Given the description of an element on the screen output the (x, y) to click on. 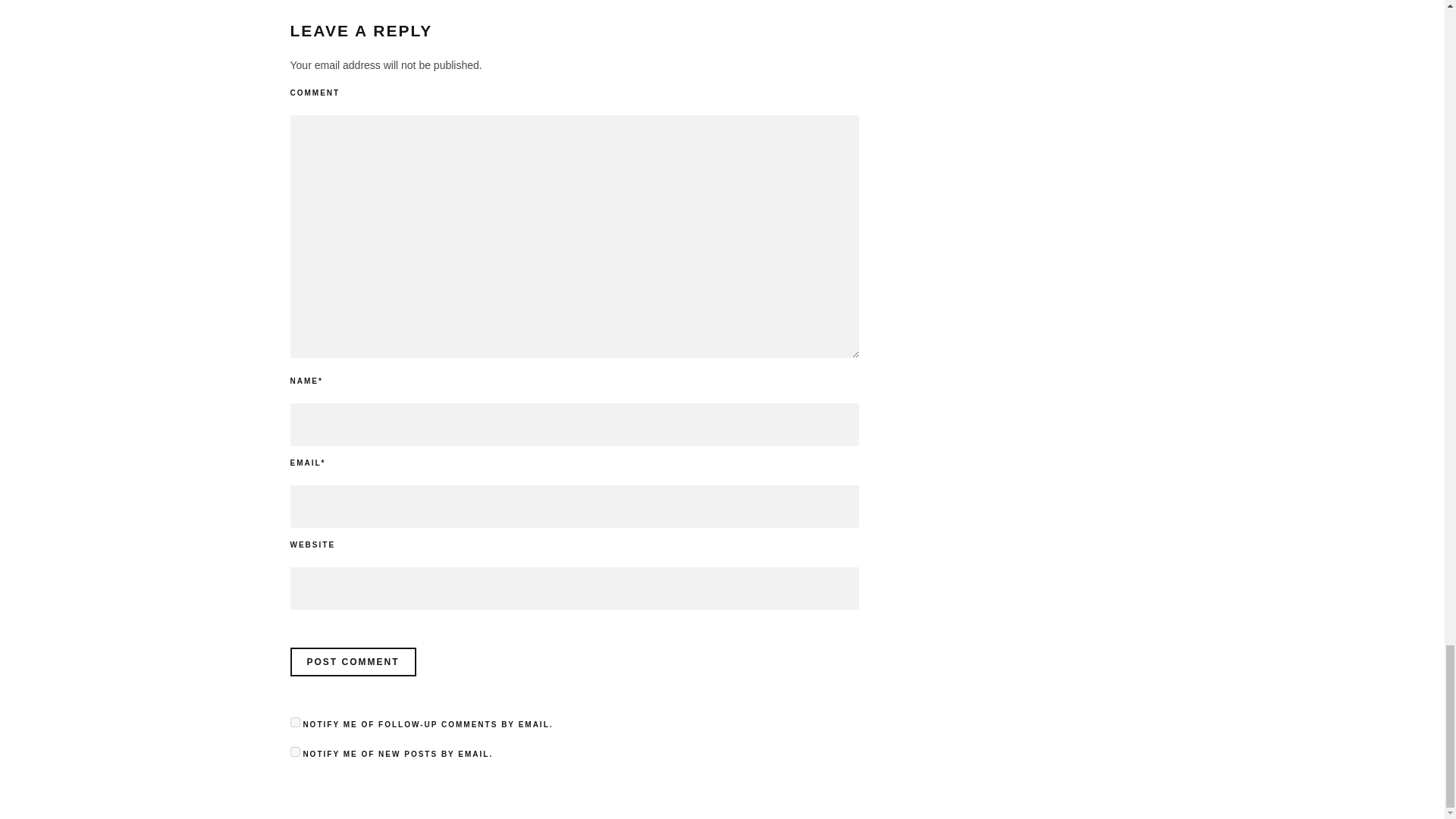
subscribe (294, 751)
subscribe (294, 722)
Post Comment (351, 661)
